Given the description of an element on the screen output the (x, y) to click on. 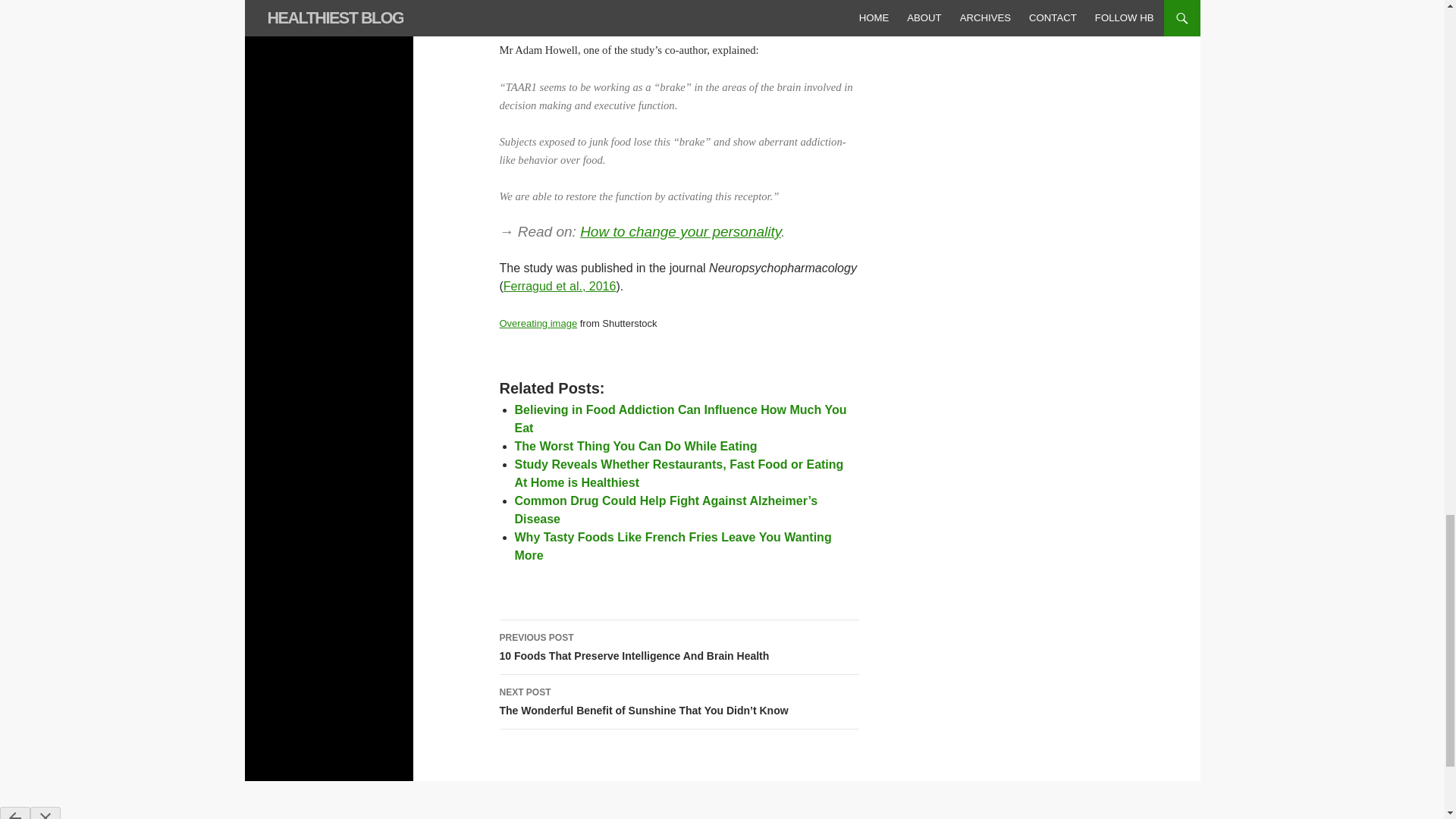
Why Tasty Foods Like French Fries Leave You Wanting More (672, 545)
Believing in Food Addiction Can Influence How Much You Eat (679, 418)
The Worst Thing You Can Do While Eating (635, 445)
How to change your personality (679, 231)
Ferragud et al., 2016 (559, 286)
Overeating image (537, 323)
The Worst Thing You Can Do While Eating (635, 445)
Why Tasty Foods Like French Fries Leave You Wanting More (672, 545)
Believing in Food Addiction Can Influence How Much You Eat (679, 418)
